Given the description of an element on the screen output the (x, y) to click on. 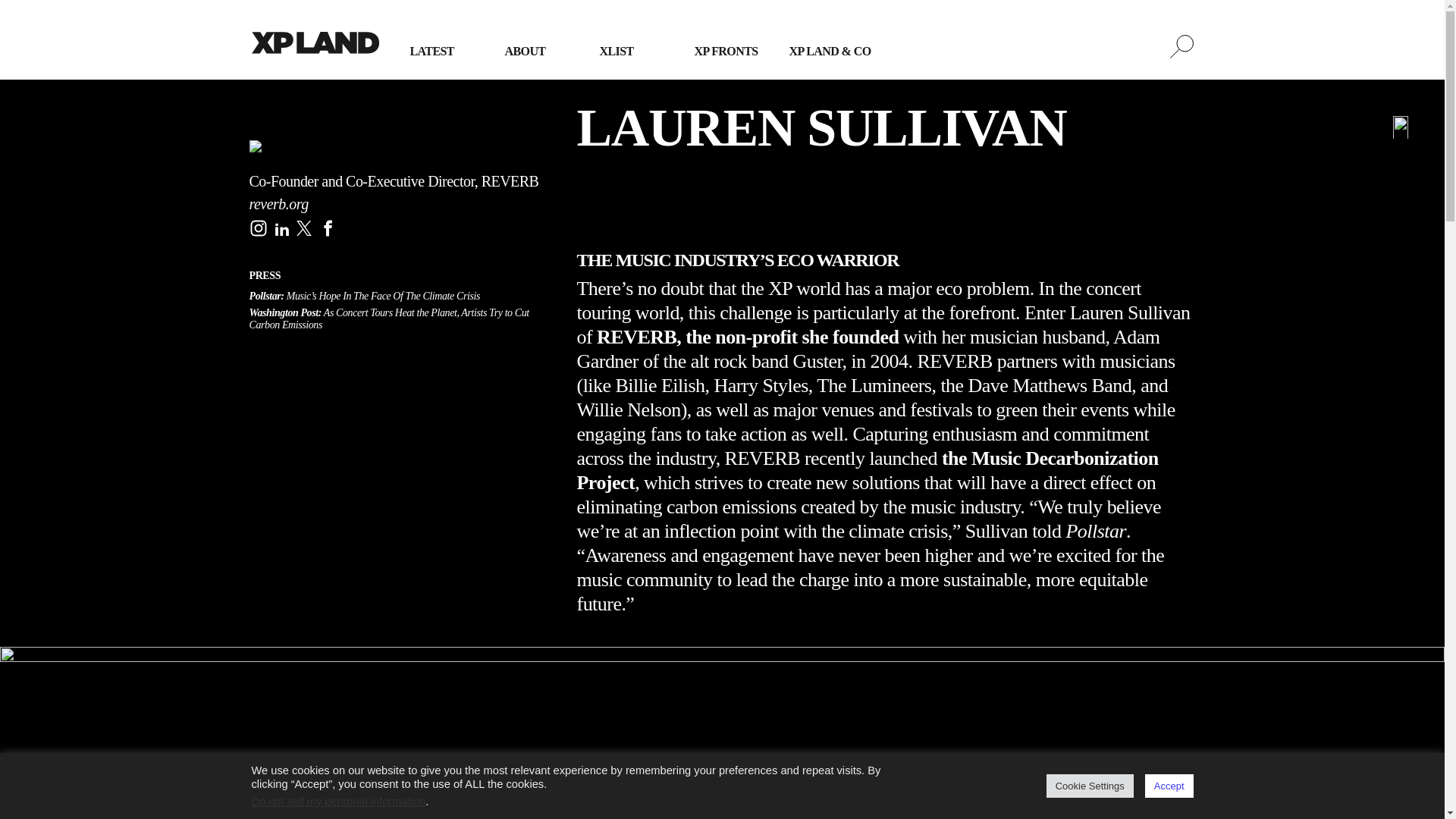
XP FRONTS (726, 50)
reverb.org (277, 203)
XLIST (615, 50)
ABOUT (525, 50)
LATEST (431, 50)
Go to the XP Land home page (315, 45)
